Given the description of an element on the screen output the (x, y) to click on. 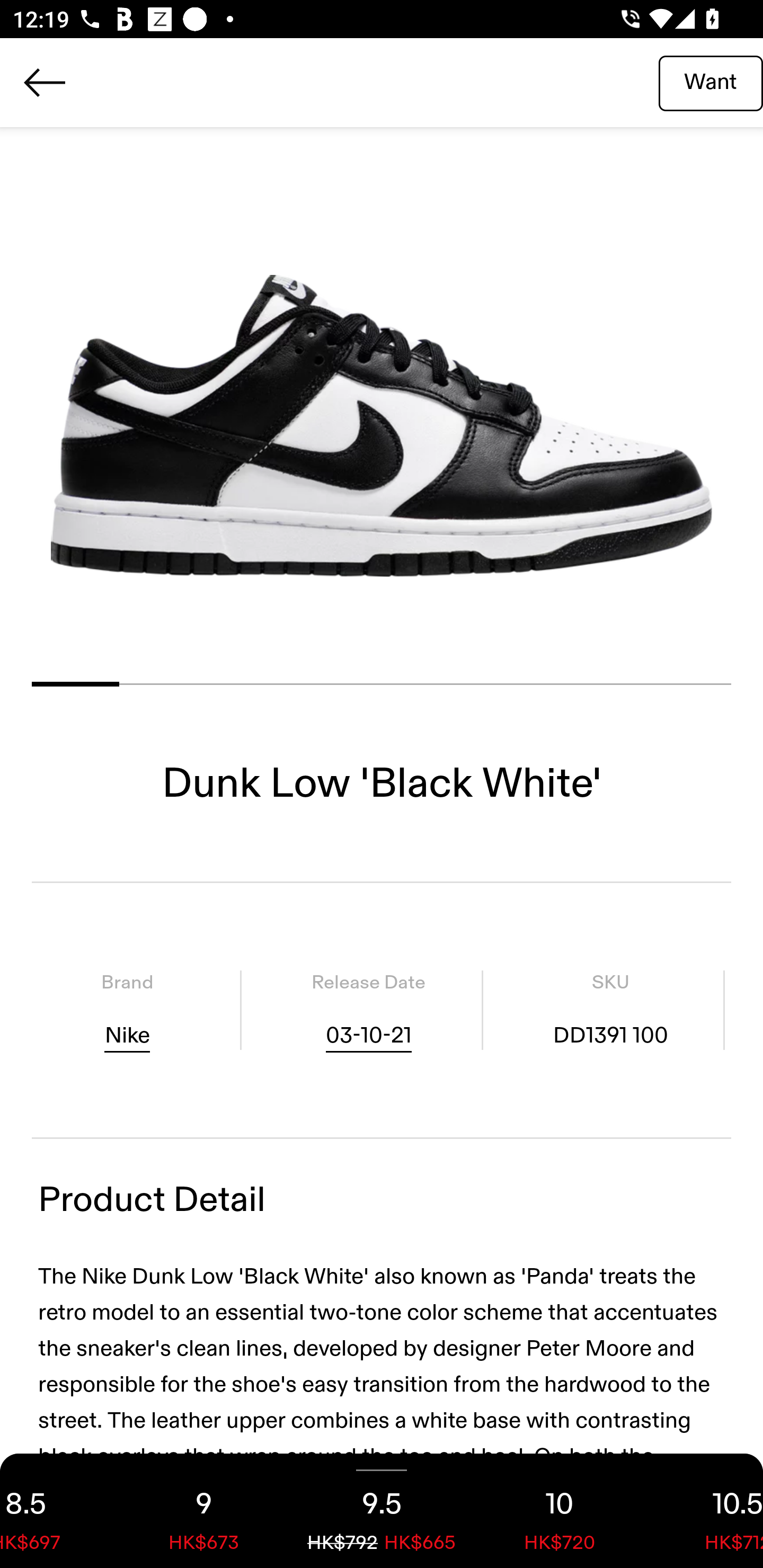
Want (710, 82)
Brand Nike (126, 1009)
Release Date 03-10-21 (368, 1009)
SKU DD1391 100 (609, 1009)
8.5 HK$697 (57, 1510)
9 HK$673 (203, 1510)
9.5 HK$792 HK$665 (381, 1510)
10 HK$720 (559, 1510)
10.5 HK$712 (705, 1510)
